Given the description of an element on the screen output the (x, y) to click on. 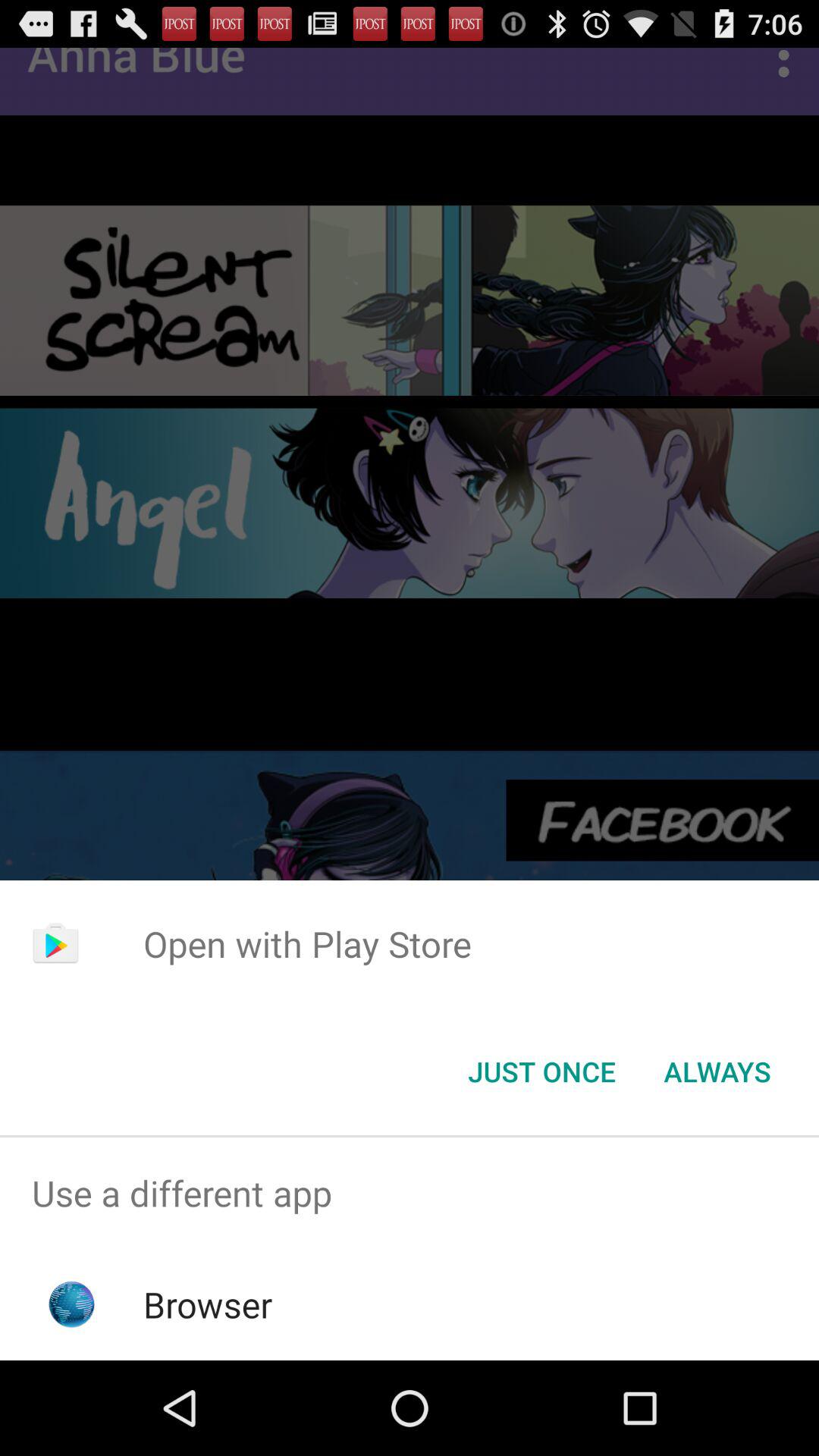
turn off the icon to the right of the just once (717, 1071)
